Given the description of an element on the screen output the (x, y) to click on. 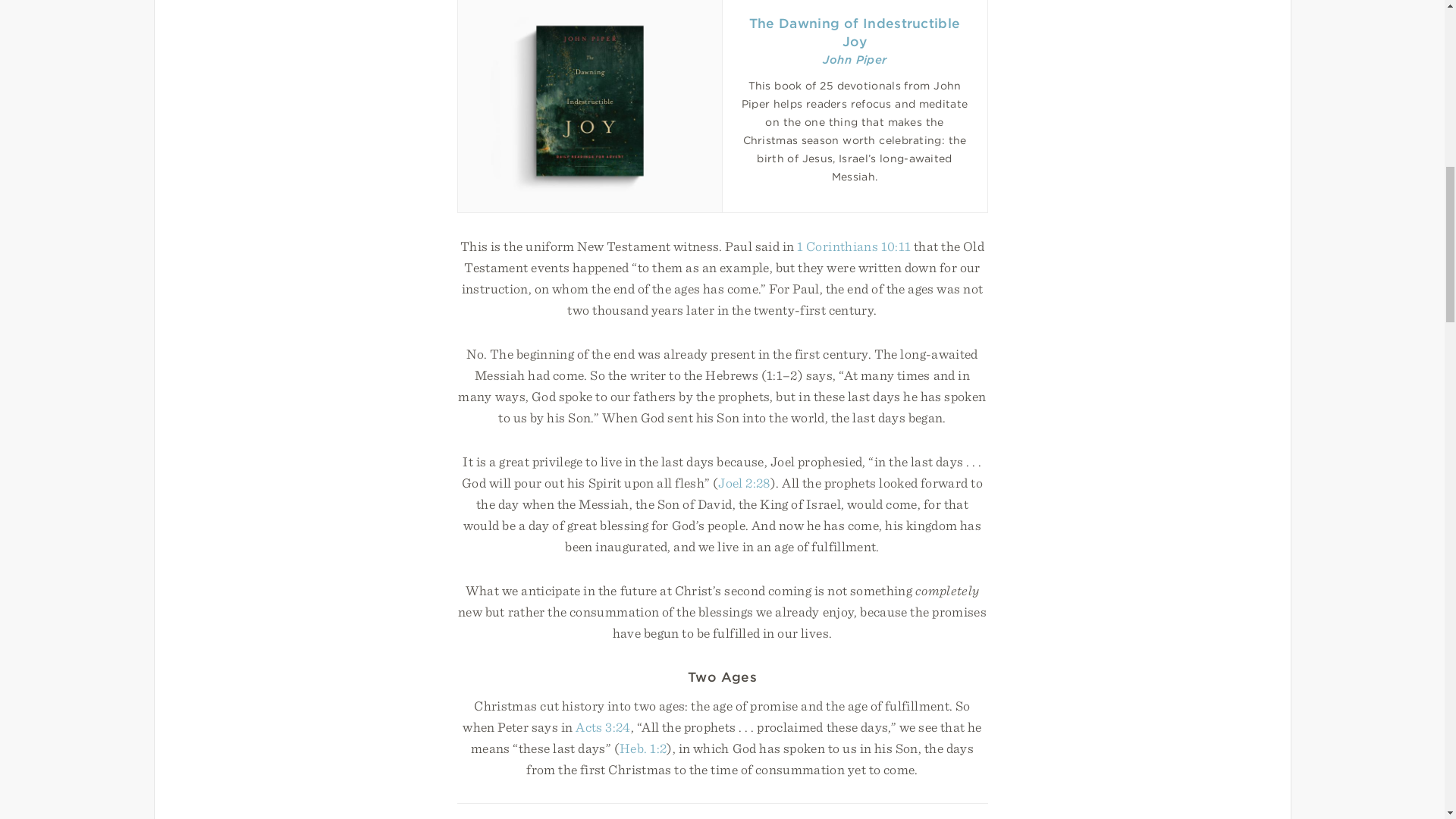
The Dawning of Indestructible Joy (854, 32)
Acts 3:24 (602, 726)
Joel 2:28 (743, 482)
Heb. 1:2 (643, 747)
1 Corinthians 10:11 (853, 245)
John Piper (854, 59)
